Given the description of an element on the screen output the (x, y) to click on. 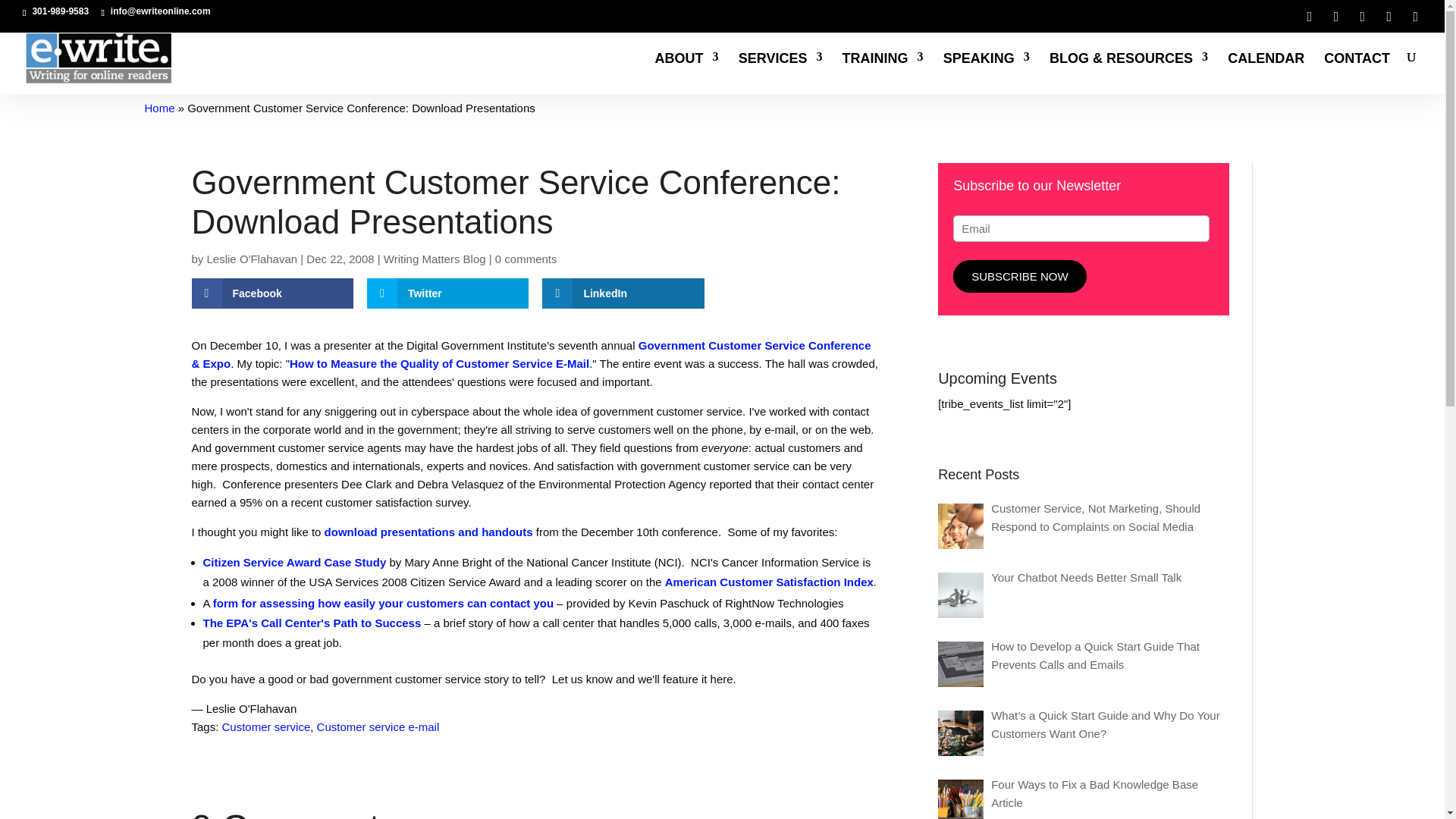
LinkedIn (622, 293)
Leslie O'Flahavan (252, 258)
Facebook (271, 293)
SPEAKING (986, 73)
Home (159, 107)
ABOUT (687, 73)
Twitter (447, 293)
SUBSCRIBE NOW (1019, 276)
TRAINING (883, 73)
CONTACT (1356, 73)
